Given the description of an element on the screen output the (x, y) to click on. 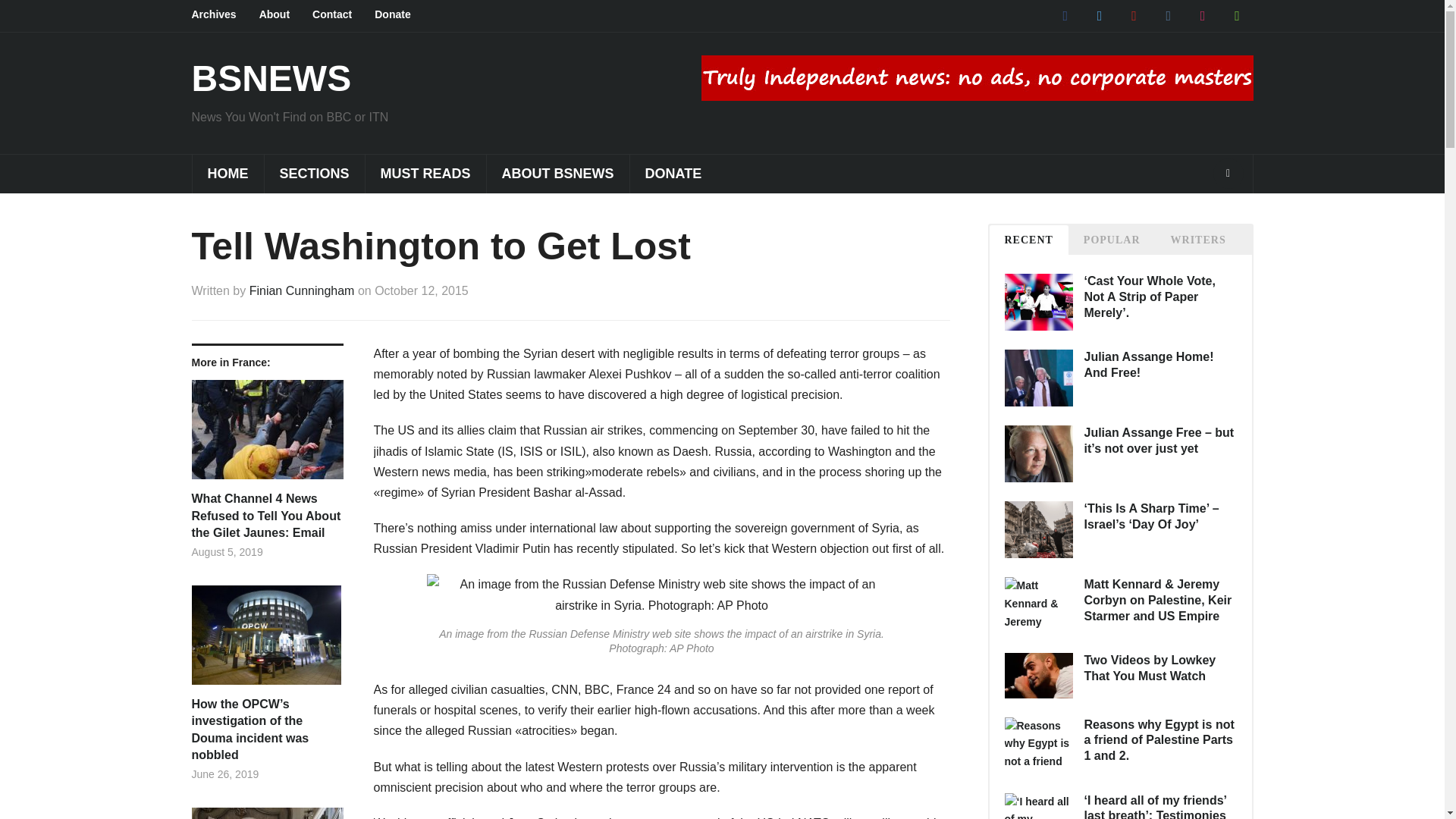
Contact (343, 15)
News You Won't Find on BBC or ITN (270, 78)
Search (1227, 173)
vkontakte (1168, 14)
Donate (403, 15)
twitter (1099, 14)
instagram (1202, 14)
Twitter (1099, 14)
Default Label (1236, 14)
Facebook (1065, 14)
Default Label (1168, 14)
Default Label (1202, 14)
Archives (224, 15)
